Given the description of an element on the screen output the (x, y) to click on. 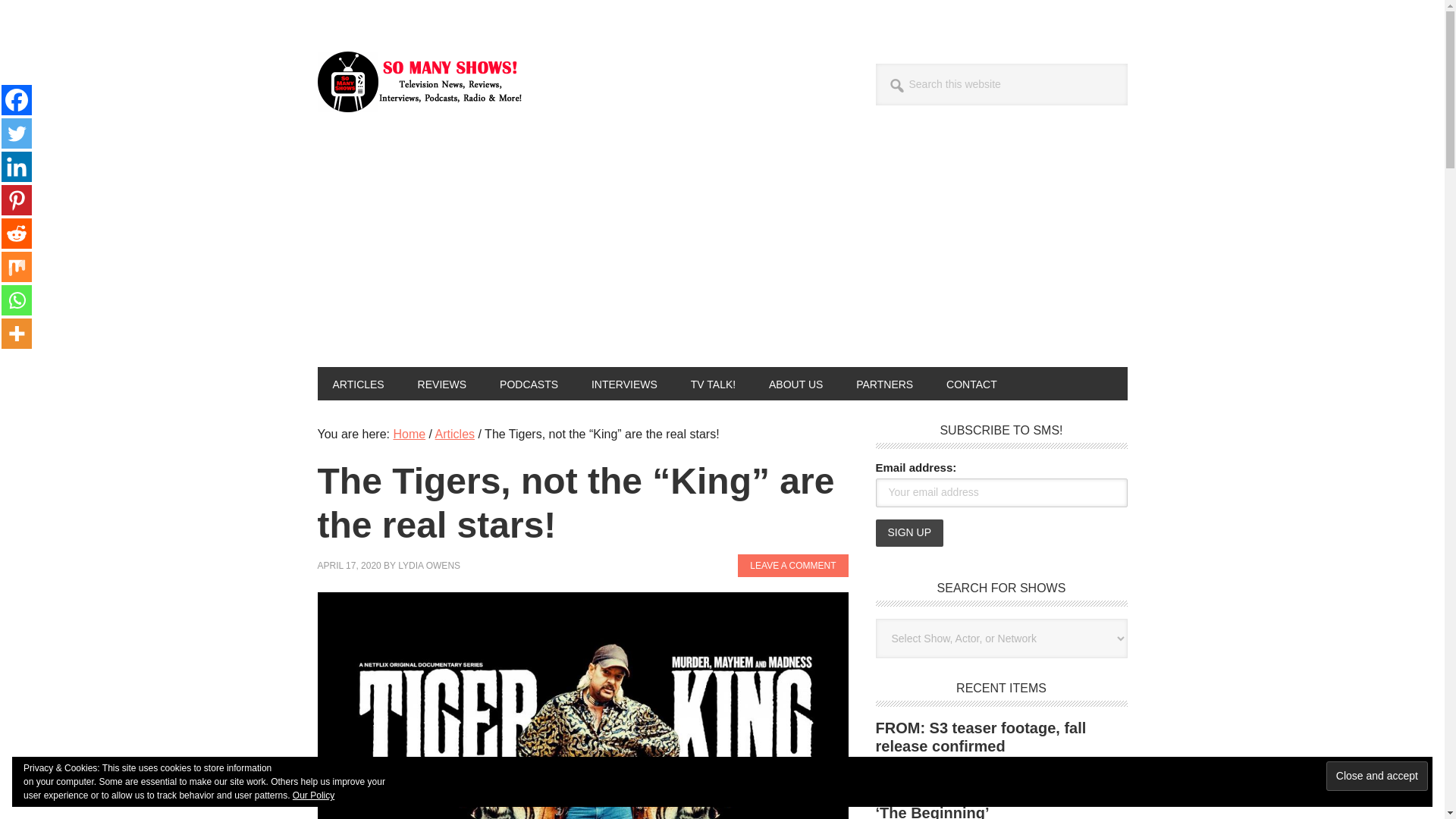
LEAVE A COMMENT (792, 565)
Home (409, 433)
SO MANY SHOWS! (419, 81)
PODCASTS (528, 383)
Twitter (16, 132)
Facebook (16, 100)
Articles (454, 433)
ARTICLES (357, 383)
REVIEWS (442, 383)
